Given the description of an element on the screen output the (x, y) to click on. 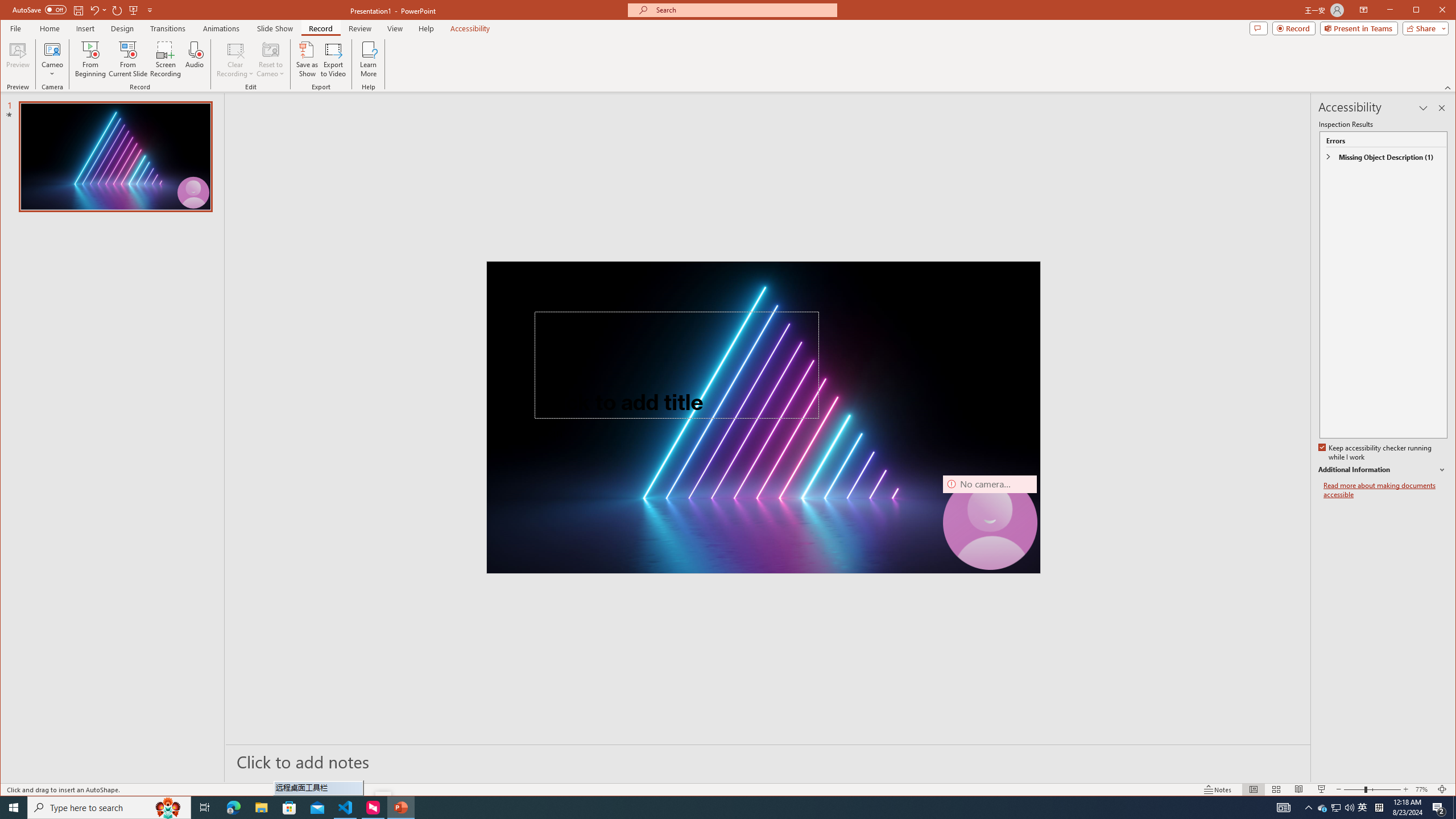
Learn More (368, 59)
Slide Notes (767, 761)
From Current Slide... (1362, 807)
Screen Recording (127, 59)
Type here to search (165, 59)
Reset to Cameo (108, 807)
Cameo (1322, 807)
